Given the description of an element on the screen output the (x, y) to click on. 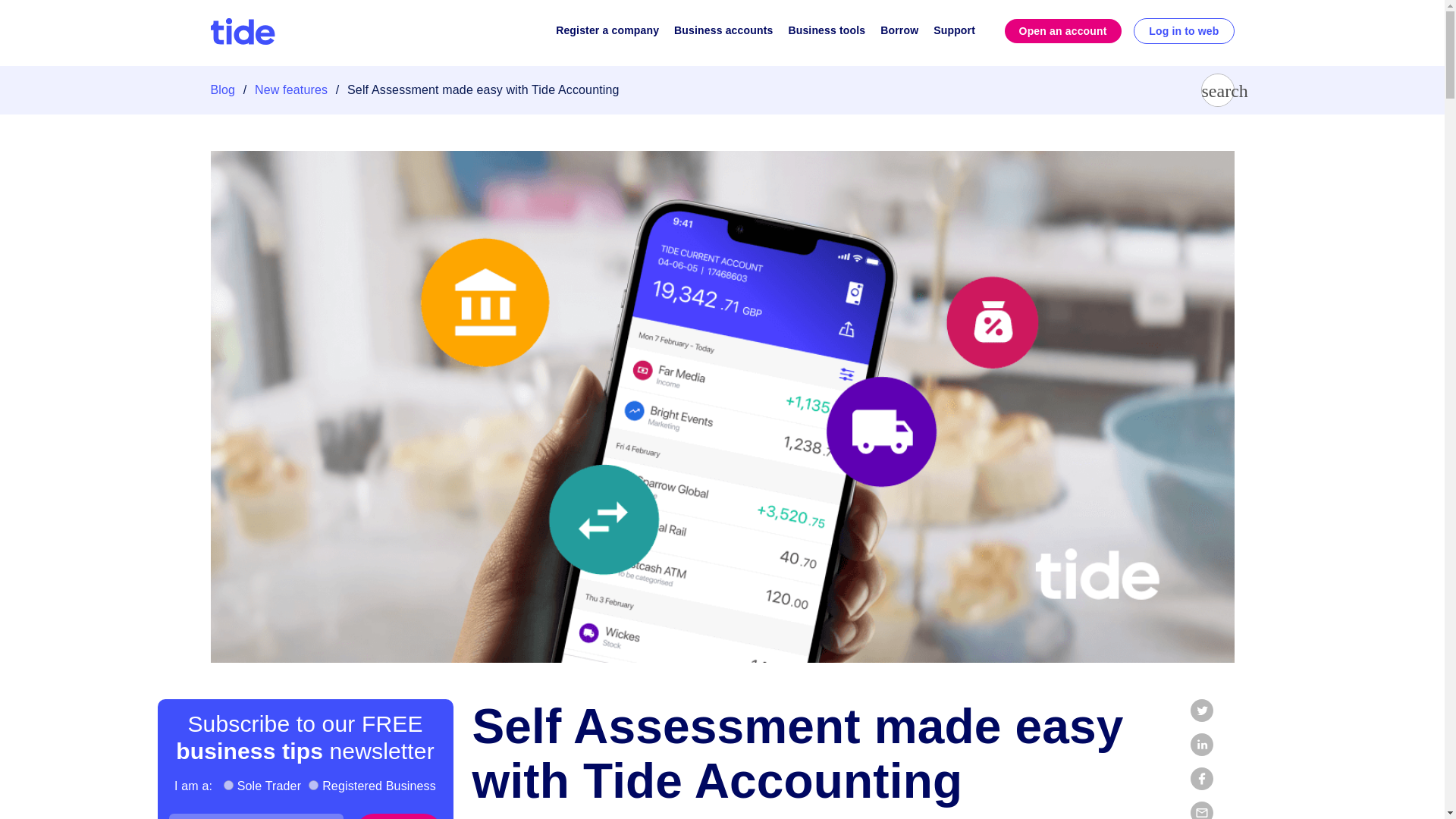
Support (954, 32)
Business tools (825, 32)
Registered Business (313, 785)
Register a company (607, 32)
Share Self Assessment made easy with Tide Accounting (1201, 810)
Business accounts (723, 32)
Borrow (899, 32)
Sole Trader (228, 785)
